Given the description of an element on the screen output the (x, y) to click on. 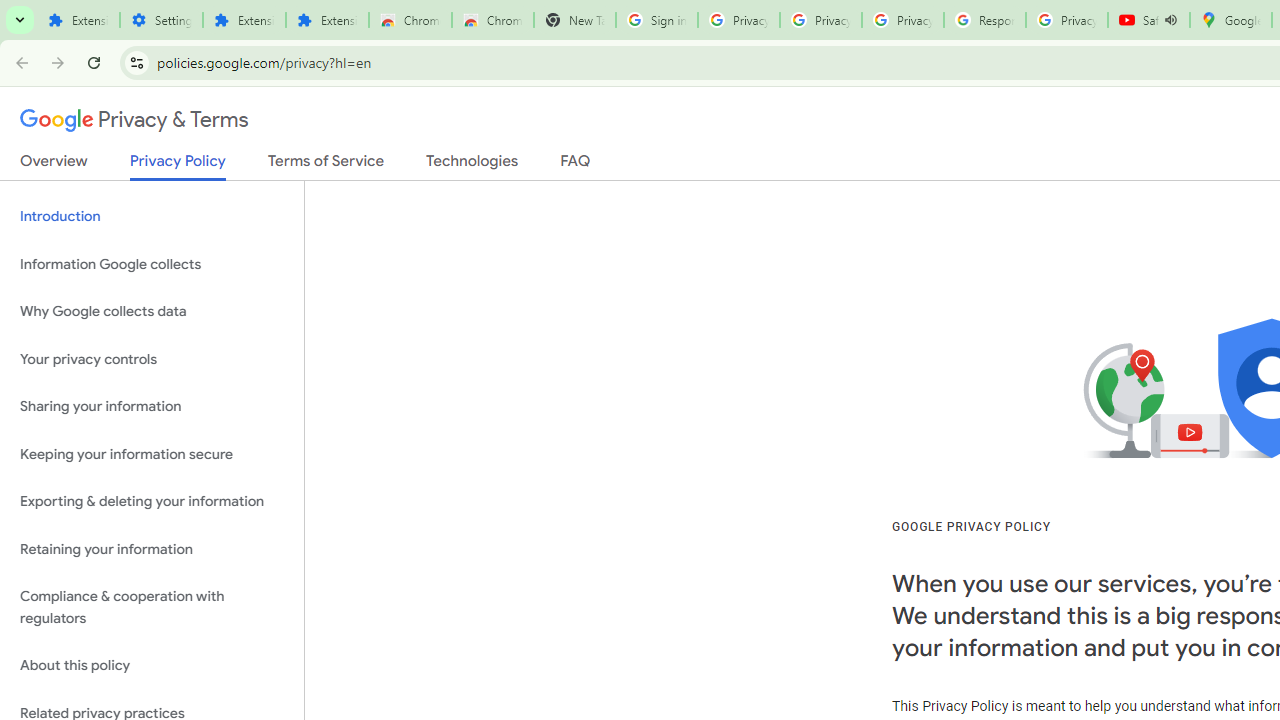
Sharing your information (152, 407)
Mute tab (1170, 20)
New Tab (574, 20)
Retaining your information (152, 548)
Settings (161, 20)
Keeping your information secure (152, 453)
Extensions (78, 20)
Exporting & deleting your information (152, 502)
